Given the description of an element on the screen output the (x, y) to click on. 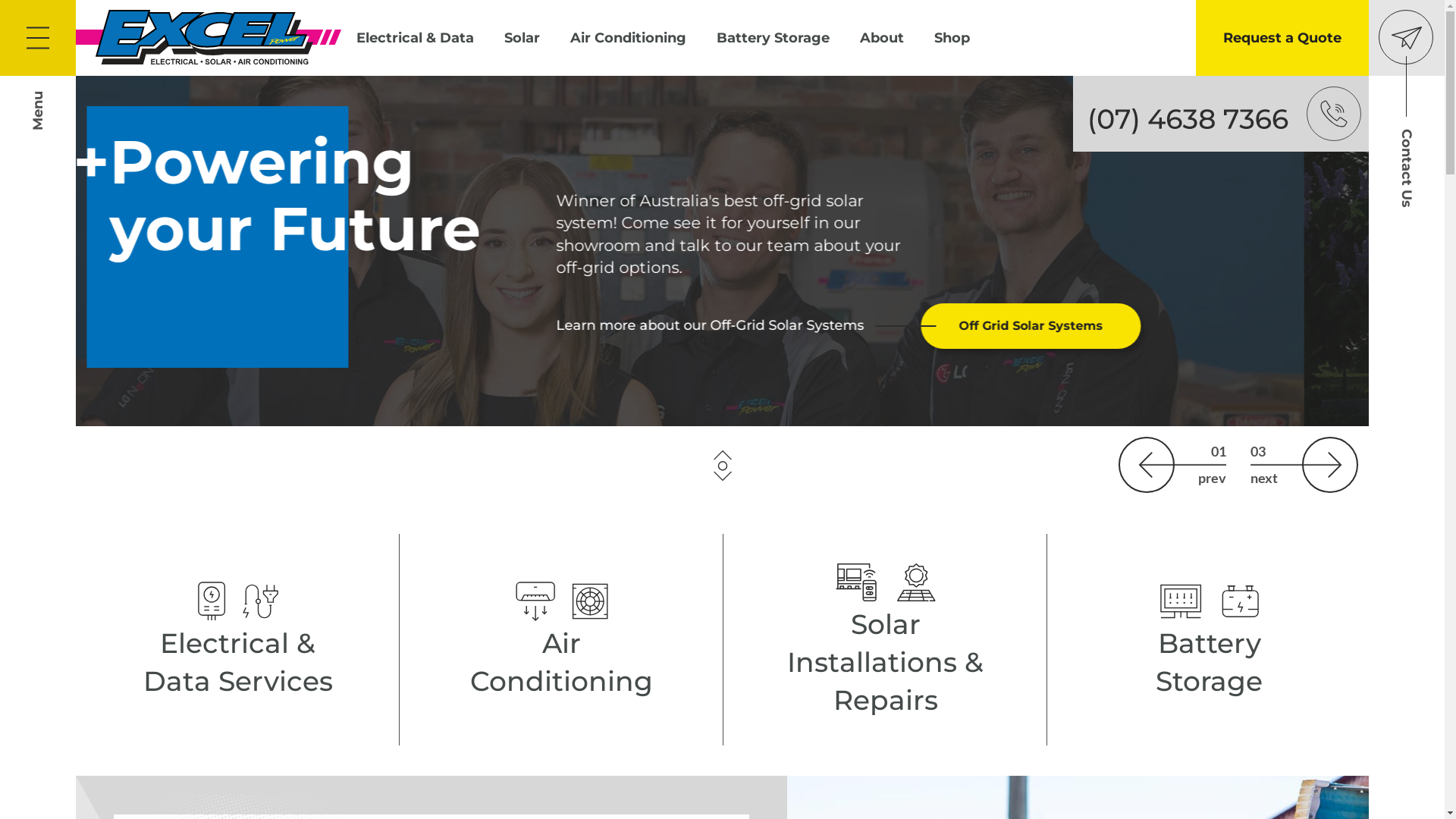
Shop Element type: text (952, 37)
Battery Storage Element type: text (772, 37)
About Element type: text (881, 37)
Request a Quote Element type: text (1281, 37)
Electrical & Data Services Element type: text (237, 639)
Solar Element type: text (522, 37)
Battery Storage Element type: text (1209, 639)
Electrical & Data Element type: text (415, 37)
Contact Us Element type: text (1406, 37)
Air Conditioning Element type: text (561, 639)
Solar Installations & Repairs Element type: text (884, 639)
Air Conditioning Element type: text (628, 37)
Off Grid Solar Systems Element type: text (1095, 325)
